Given the description of an element on the screen output the (x, y) to click on. 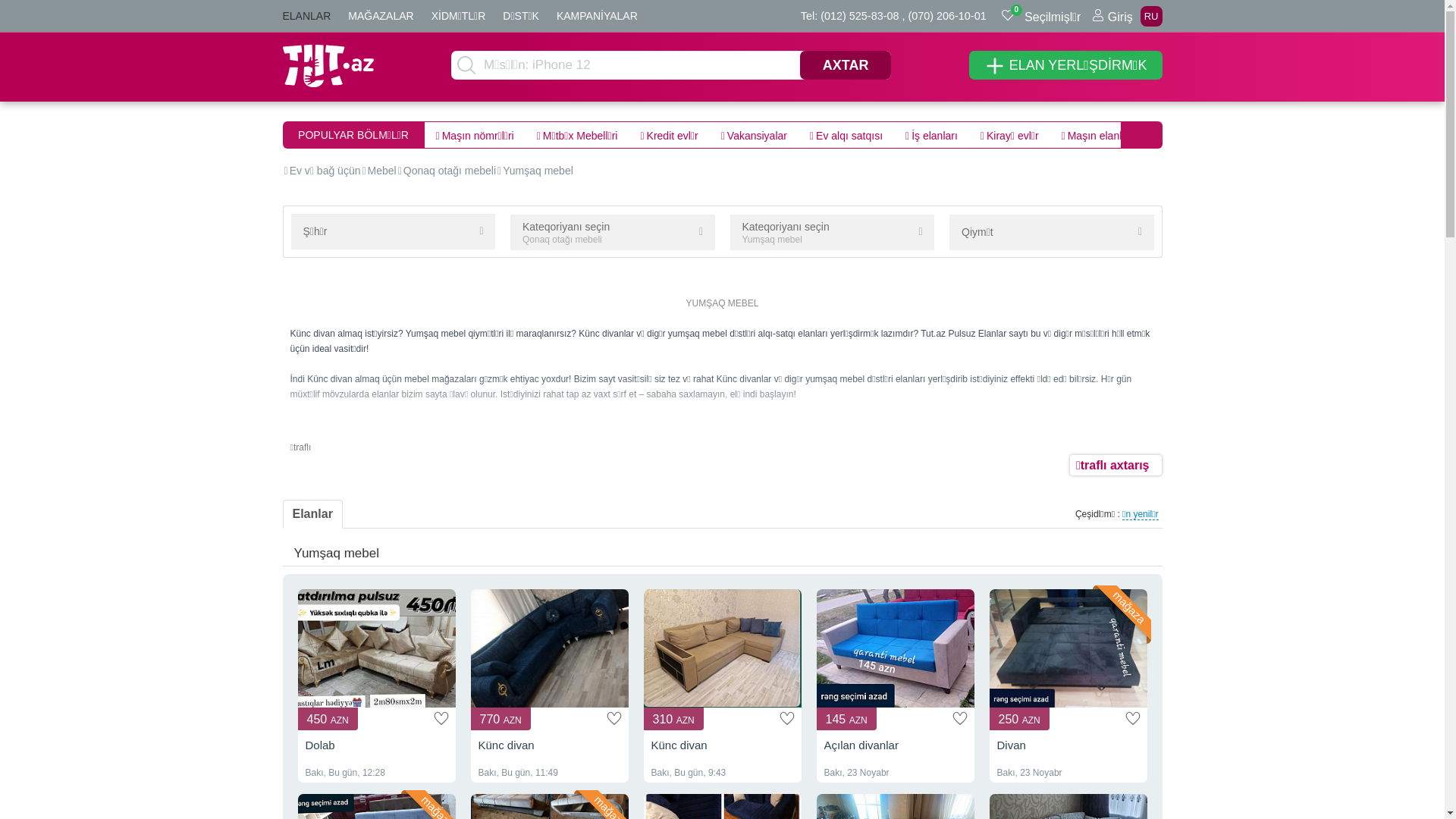
Elanlar Element type: text (312, 513)
AXTAR Element type: text (845, 64)
Mebel Element type: text (381, 170)
ELANLAR Element type: text (306, 15)
Vakansiyalar Element type: text (941, 135)
KAMPANIYALAR Element type: text (596, 15)
RU Element type: text (1151, 16)
